Given the description of an element on the screen output the (x, y) to click on. 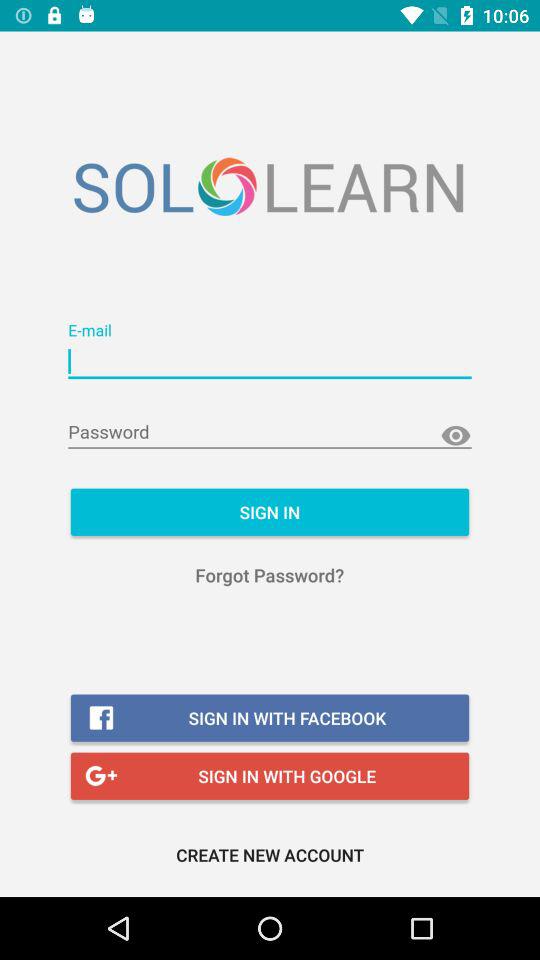
enter e-mail address (270, 362)
